Given the description of an element on the screen output the (x, y) to click on. 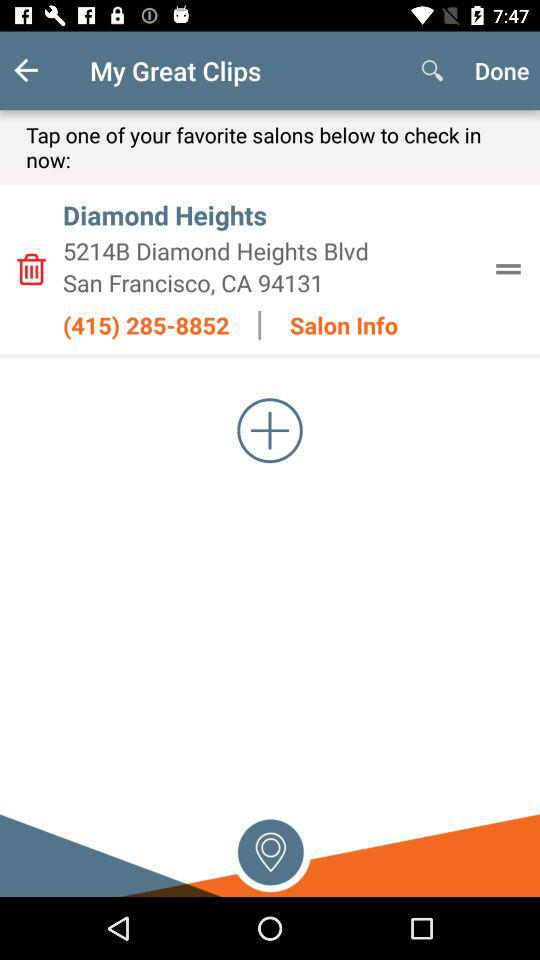
add option (270, 430)
